Given the description of an element on the screen output the (x, y) to click on. 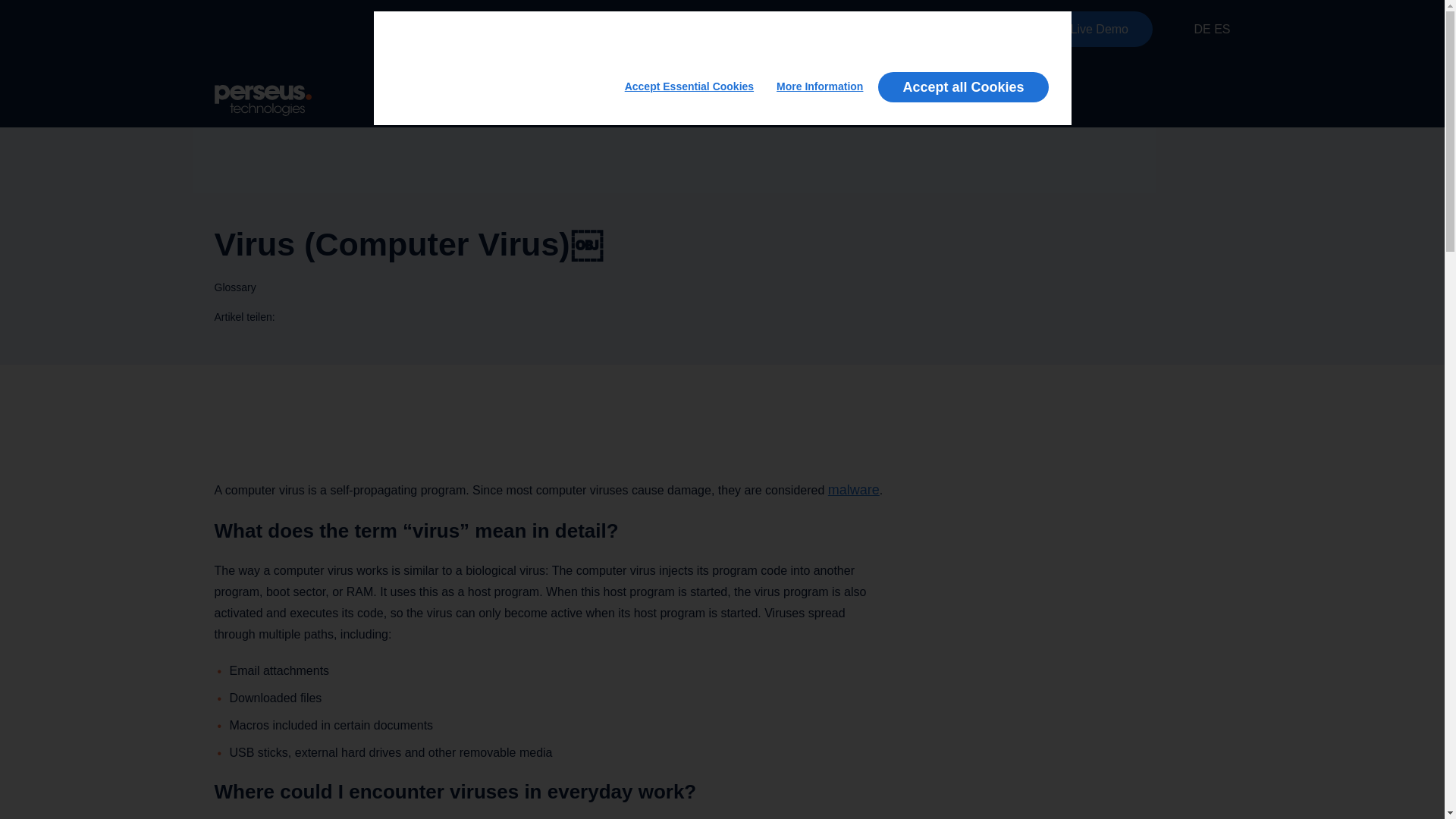
Login (984, 29)
malware (853, 490)
Accept Essential Cookies (689, 87)
DE (1201, 29)
Perseus (262, 100)
More Information (819, 87)
Accept all Cookies (962, 87)
ES (1222, 29)
Live Demo (1099, 28)
